Given the description of an element on the screen output the (x, y) to click on. 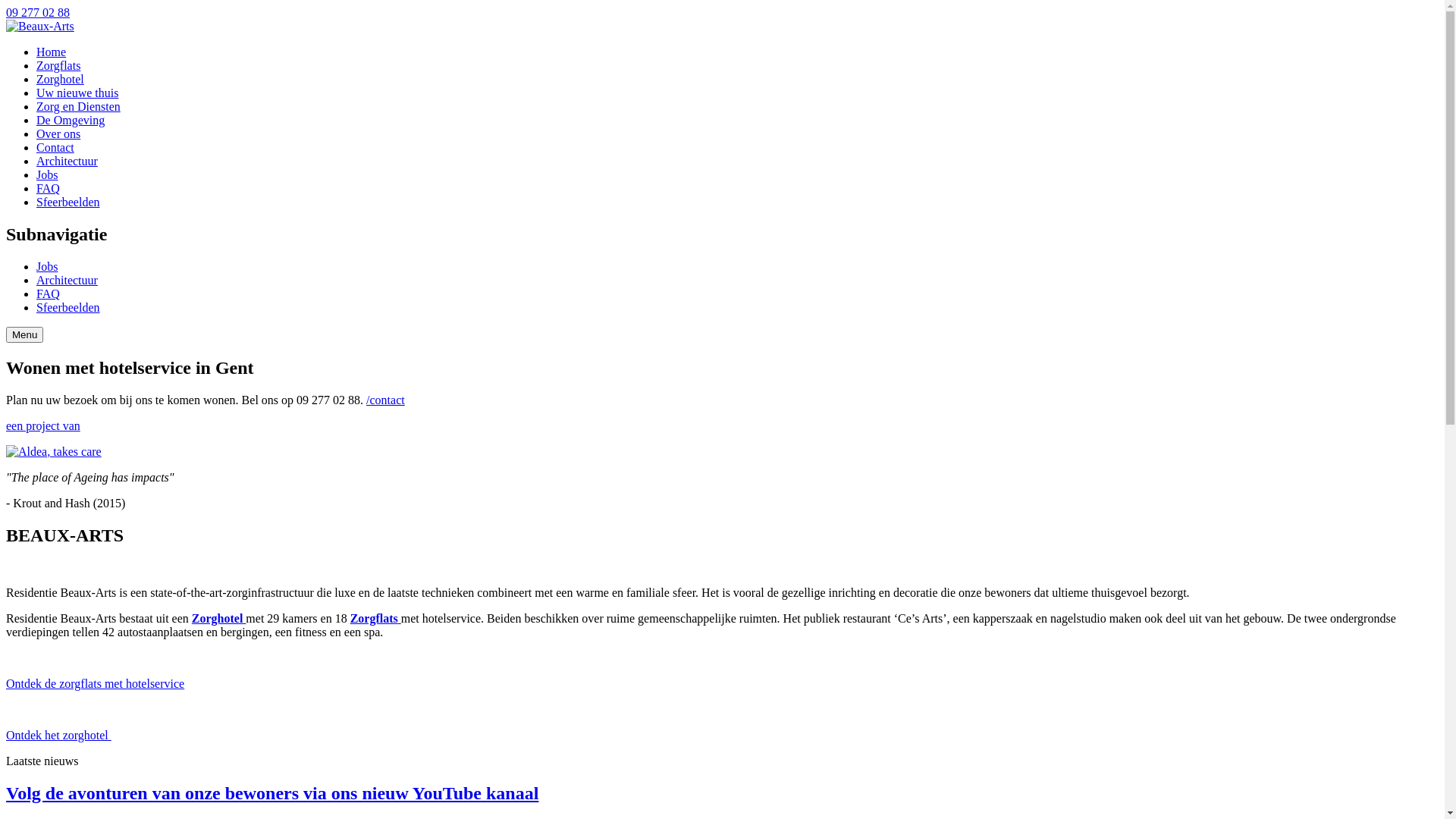
De Omgeving Element type: text (70, 119)
Architectuur Element type: text (66, 279)
09 277 02 88 Element type: text (37, 12)
Home Element type: text (50, 51)
een project van Element type: text (722, 438)
Ontdek het zorghotel  Element type: text (58, 734)
Ontdek de zorgflats met hotelservice Element type: text (95, 683)
Sfeerbeelden Element type: text (68, 201)
Sfeerbeelden Element type: text (68, 307)
/contact Element type: text (385, 399)
Zorghotel Element type: text (60, 78)
Contact Element type: text (55, 147)
Menu Element type: text (24, 334)
Zorghotel Element type: text (218, 617)
Jobs Element type: text (46, 174)
Over ons Element type: text (58, 133)
Zorg en Diensten Element type: text (78, 106)
FAQ Element type: text (47, 293)
Zorgflats Element type: text (375, 617)
FAQ Element type: text (47, 188)
Architectuur Element type: text (66, 160)
Zorgflats Element type: text (58, 65)
Uw nieuwe thuis Element type: text (77, 92)
Jobs Element type: text (46, 266)
